Given the description of an element on the screen output the (x, y) to click on. 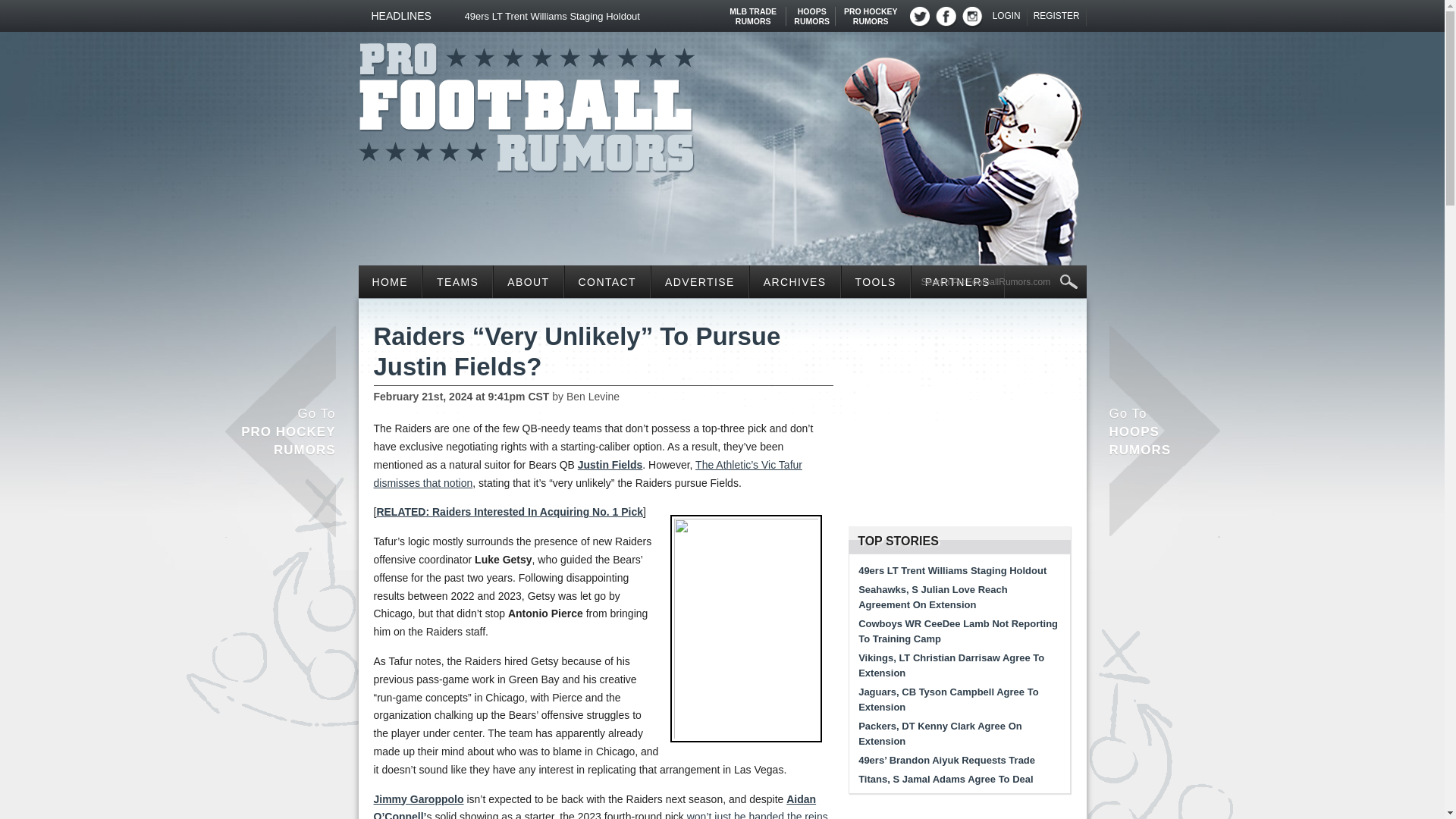
REGISTER (1056, 16)
HOME (390, 281)
Pro Football Rumors (811, 11)
LOGIN (526, 103)
TEAMS (1007, 16)
Search for: (753, 11)
Search (457, 281)
49ers LT Trent Williams Staging Holdout (870, 11)
